Given the description of an element on the screen output the (x, y) to click on. 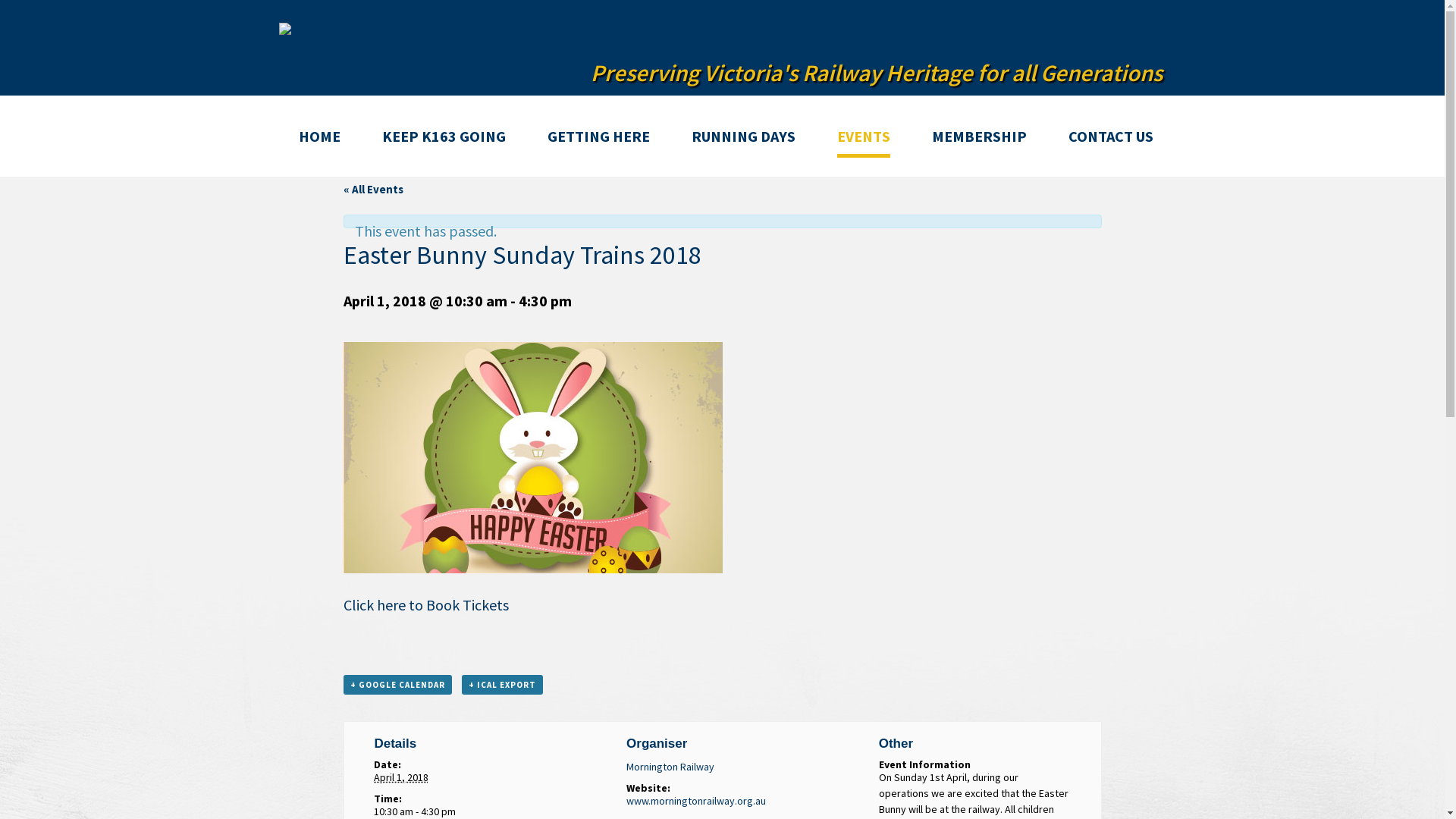
Click here to Book Tickets Element type: text (425, 604)
EVENTS Element type: text (863, 137)
+ GOOGLE CALENDAR Element type: text (396, 684)
RUNNING DAYS Element type: text (743, 135)
HOME Element type: text (319, 135)
+ ICAL EXPORT Element type: text (501, 684)
CONTACT US Element type: text (1110, 135)
www.morningtonrailway.org.au Element type: text (695, 800)
GETTING HERE Element type: text (598, 135)
Mornington Railway Element type: text (670, 766)
KEEP K163 GOING Element type: text (443, 135)
MEMBERSHIP Element type: text (978, 135)
